Given the description of an element on the screen output the (x, y) to click on. 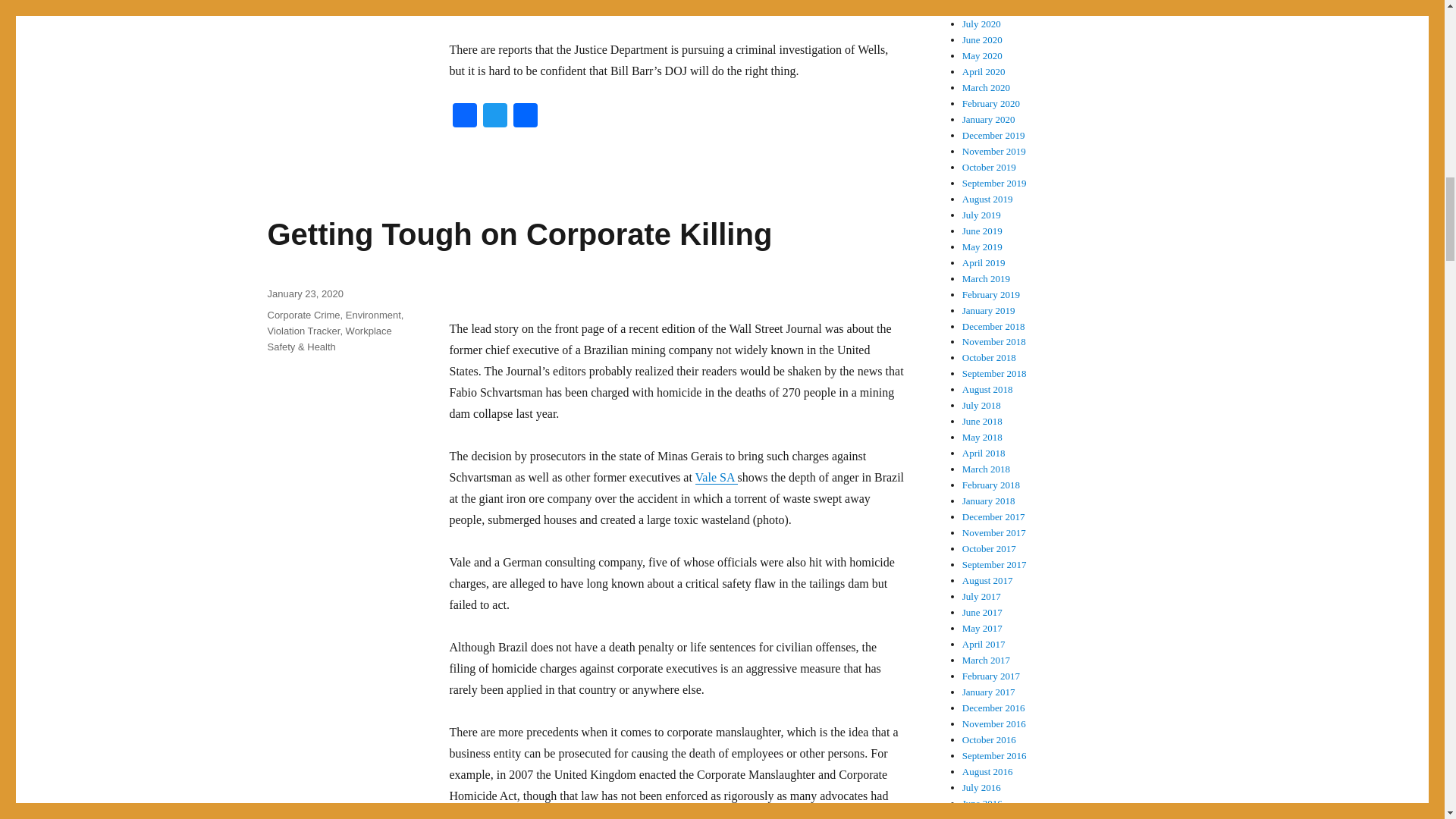
Corporate Crime (302, 315)
Twitter (494, 117)
Violation Tracker (302, 330)
January 23, 2020 (304, 293)
Getting Tough on Corporate Killing (518, 233)
Twitter (494, 117)
Facebook (463, 117)
Share (524, 117)
Facebook (463, 117)
Environment (373, 315)
